Given the description of an element on the screen output the (x, y) to click on. 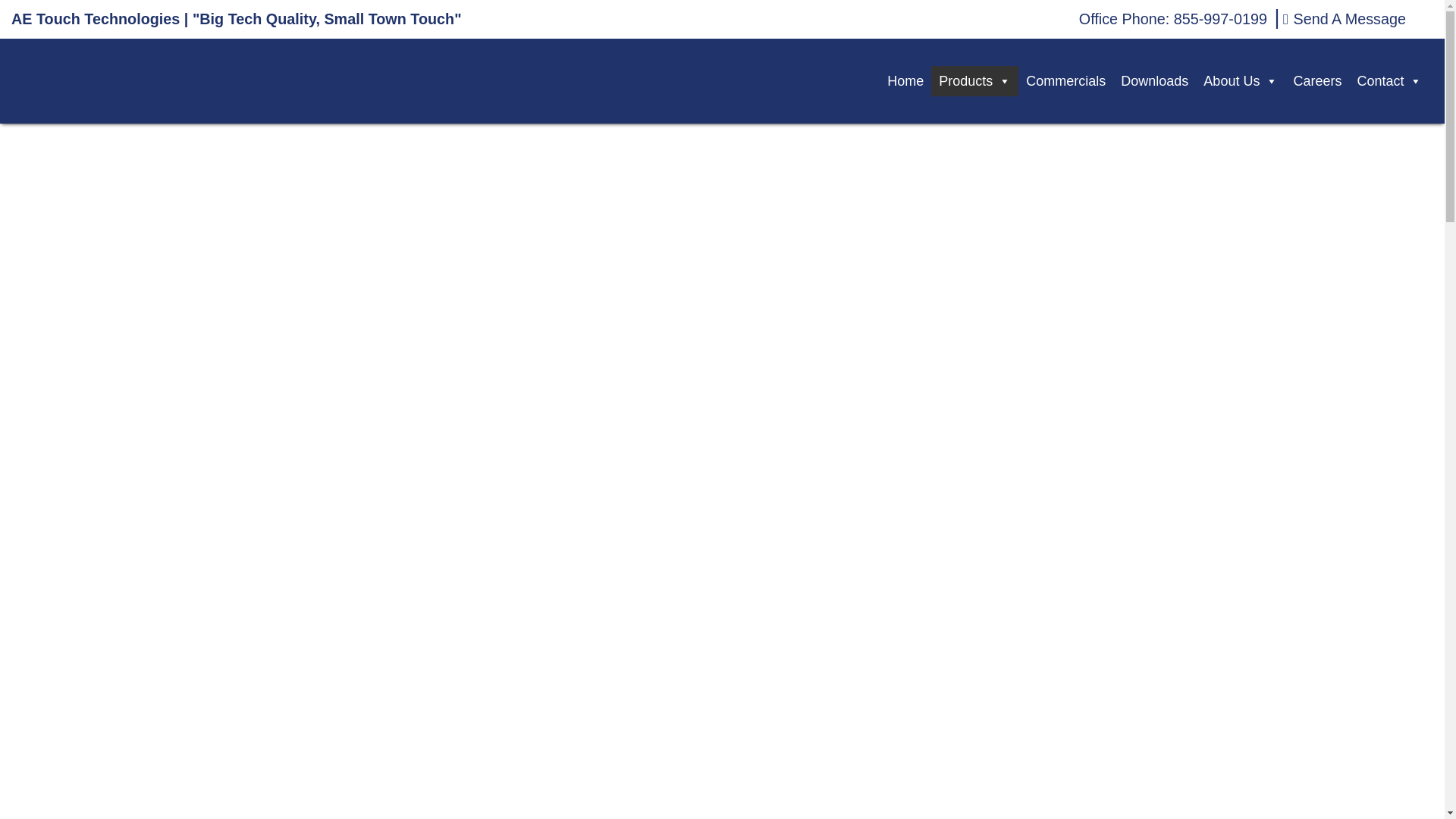
Send A Message (1344, 19)
Commercials (1065, 81)
About Us (1240, 81)
Careers (1317, 81)
Products (974, 81)
Downloads (1154, 81)
Office Phone: 855-997-0199 (1172, 19)
Home (905, 81)
